Given the description of an element on the screen output the (x, y) to click on. 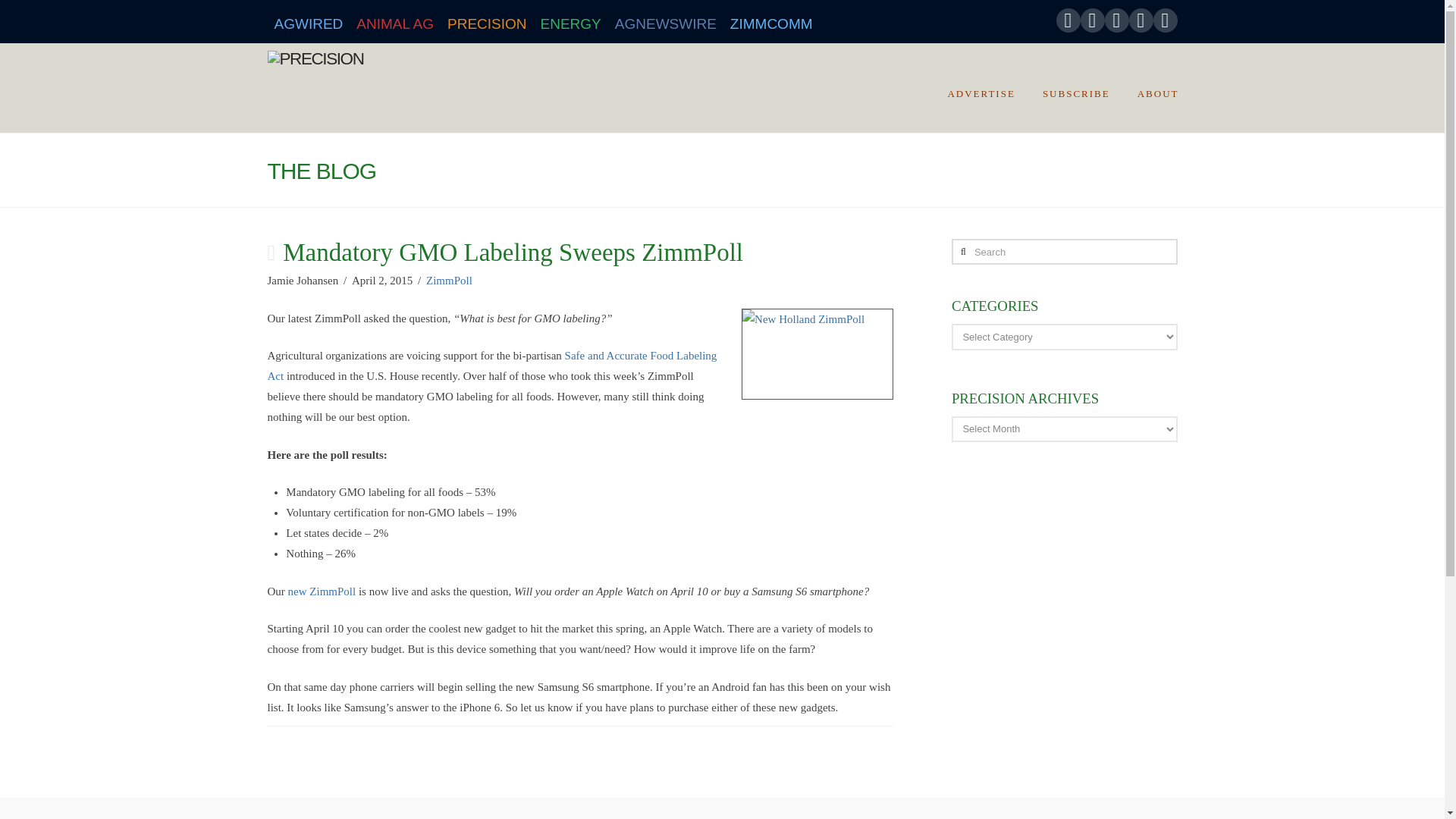
YouTube (1115, 20)
Facebook (1067, 20)
PRECISION (487, 21)
ADVERTISE (980, 87)
AGNEWSWIRE (665, 21)
ENERGY (571, 21)
SUBSCRIBE (1074, 87)
RSS (1164, 20)
ZimmPoll (448, 280)
Safe and Accurate Food Labeling Act (491, 365)
ANIMAL AG (395, 21)
Twitter (1091, 20)
AGWIRED (307, 21)
new ZimmPoll (322, 591)
Flickr (1140, 20)
